Given the description of an element on the screen output the (x, y) to click on. 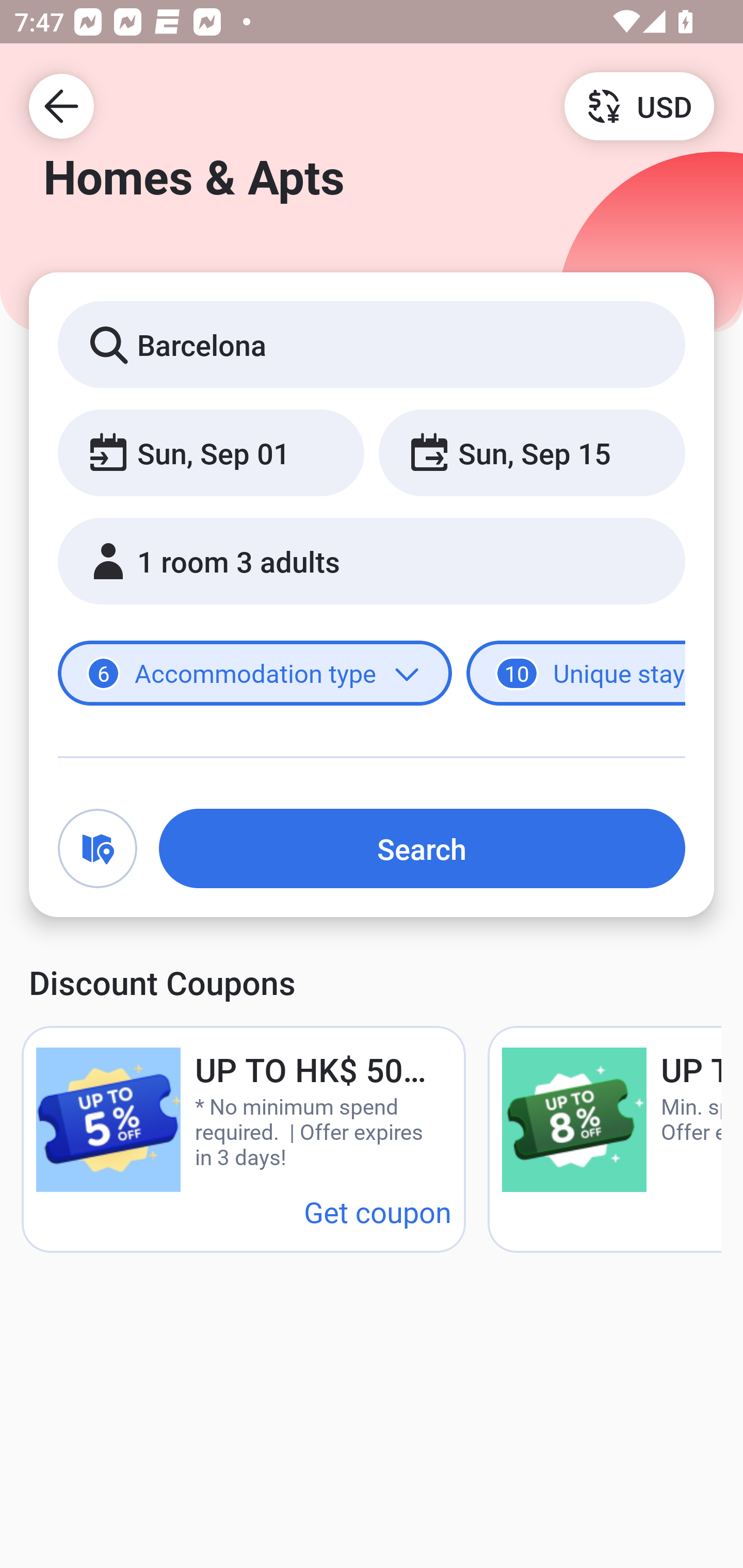
USD (639, 105)
Barcelona (371, 344)
Sun, Sep 01 (210, 452)
Sun, Sep 15 (531, 452)
1 room 3 adults (371, 561)
6 Accommodation type (254, 673)
10 Unique stays (575, 673)
Search (422, 848)
Get coupon (377, 1211)
